Given the description of an element on the screen output the (x, y) to click on. 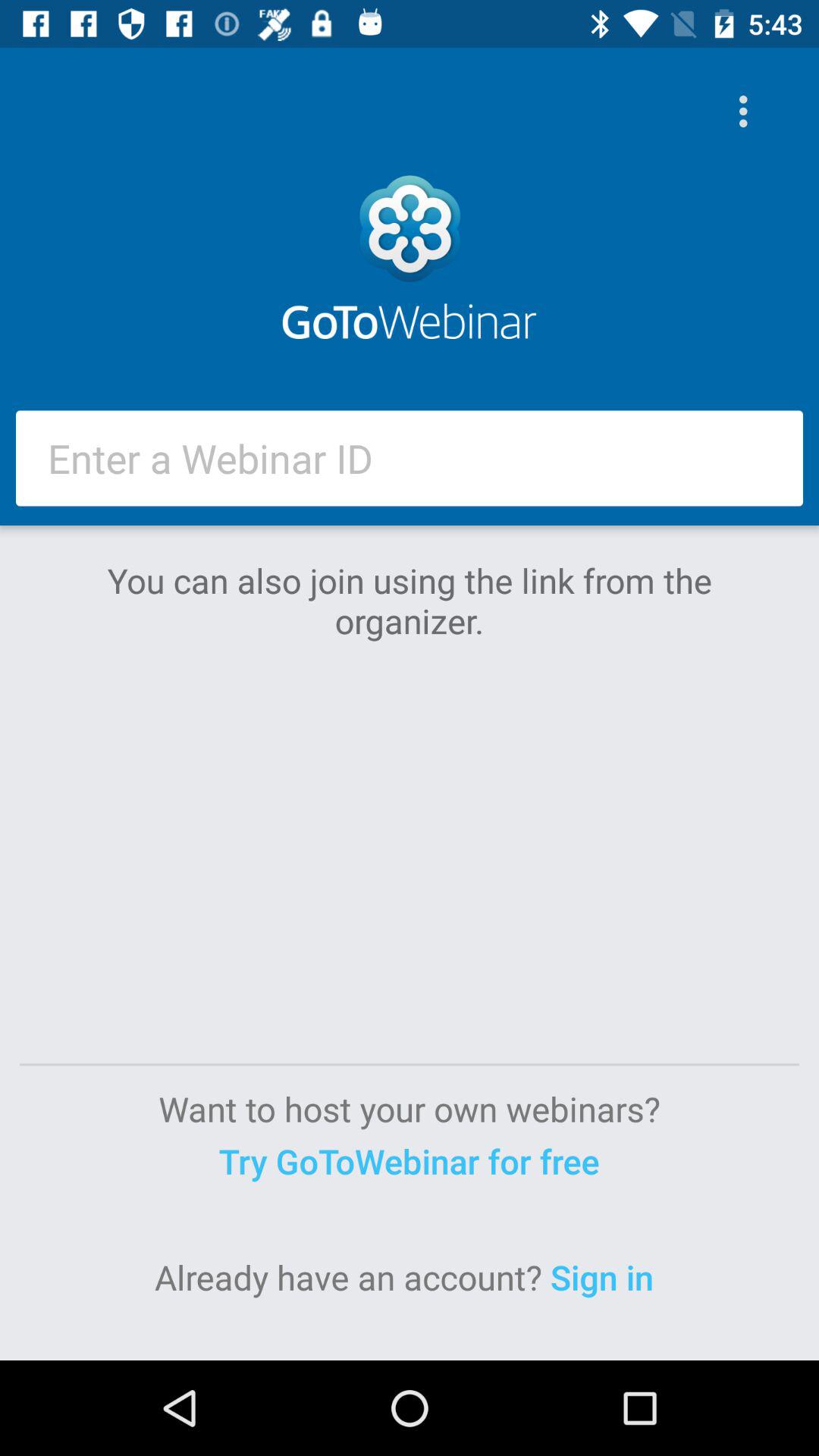
tap item at the top right corner (747, 111)
